Given the description of an element on the screen output the (x, y) to click on. 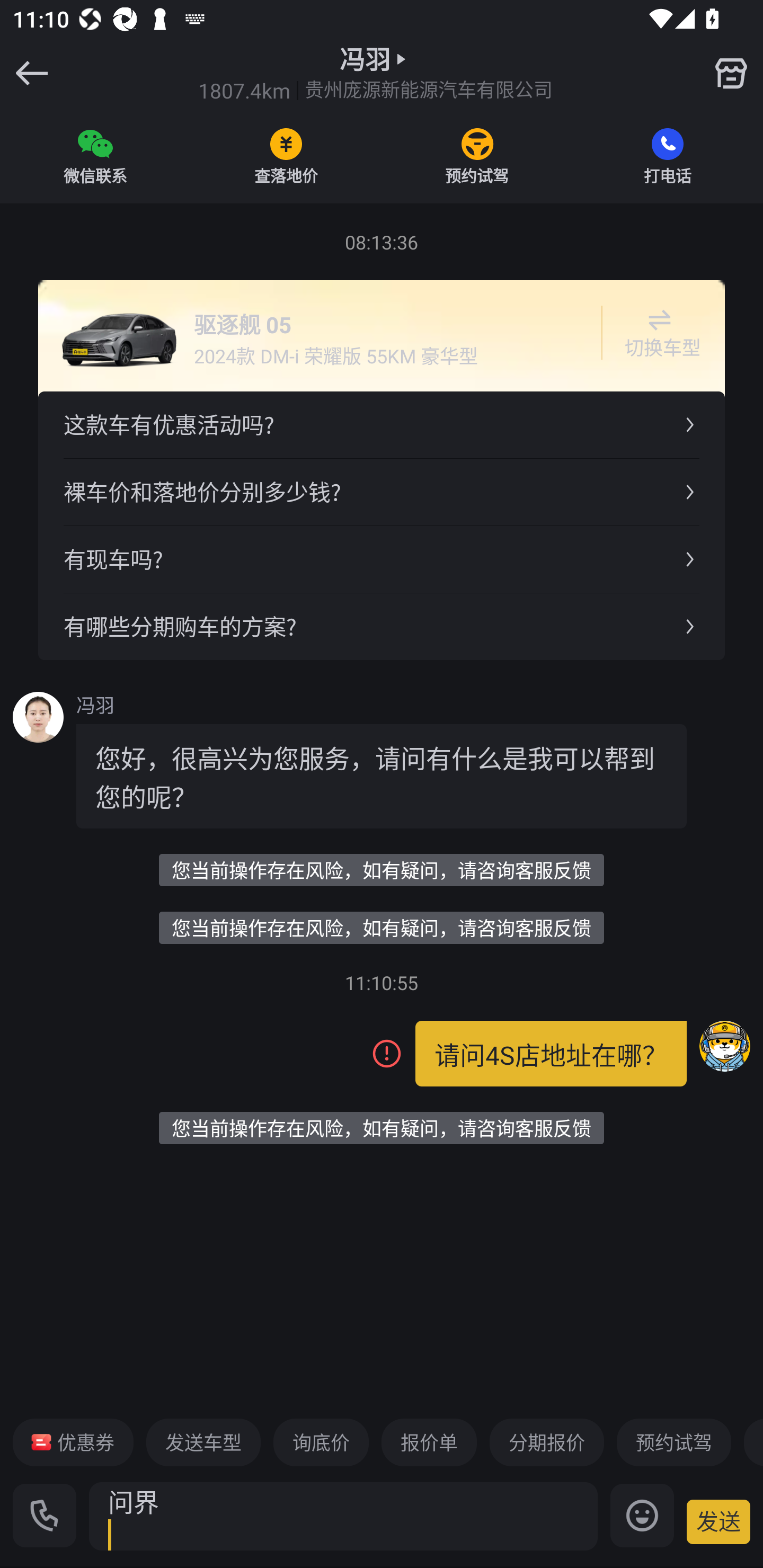
冯羽 1807.4km 贵州庞源新能源汽车有限公司 (374, 73)
 (730, 73)
微信联系 (95, 155)
查落地价 (285, 155)
预约试驾 (476, 155)
打电话 (667, 155)
切换车型 (659, 332)
这款车有优惠活动吗? (381, 424)
裸车价和落地价分别多少钱? (381, 492)
有现车吗? (381, 558)
有哪些分期购车的方案? (381, 626)
您好，很高兴为您服务，请问有什么是我可以帮到您的呢？ (381, 775)
请问4S店地址在哪？ (550, 1053)
优惠券 (72, 1442)
发送车型 (203, 1442)
询底价 (320, 1442)
报价单 (428, 1442)
分期报价 (546, 1442)
预约试驾 (673, 1442)
问界
 (343, 1515)
发送 (718, 1521)
